Given the description of an element on the screen output the (x, y) to click on. 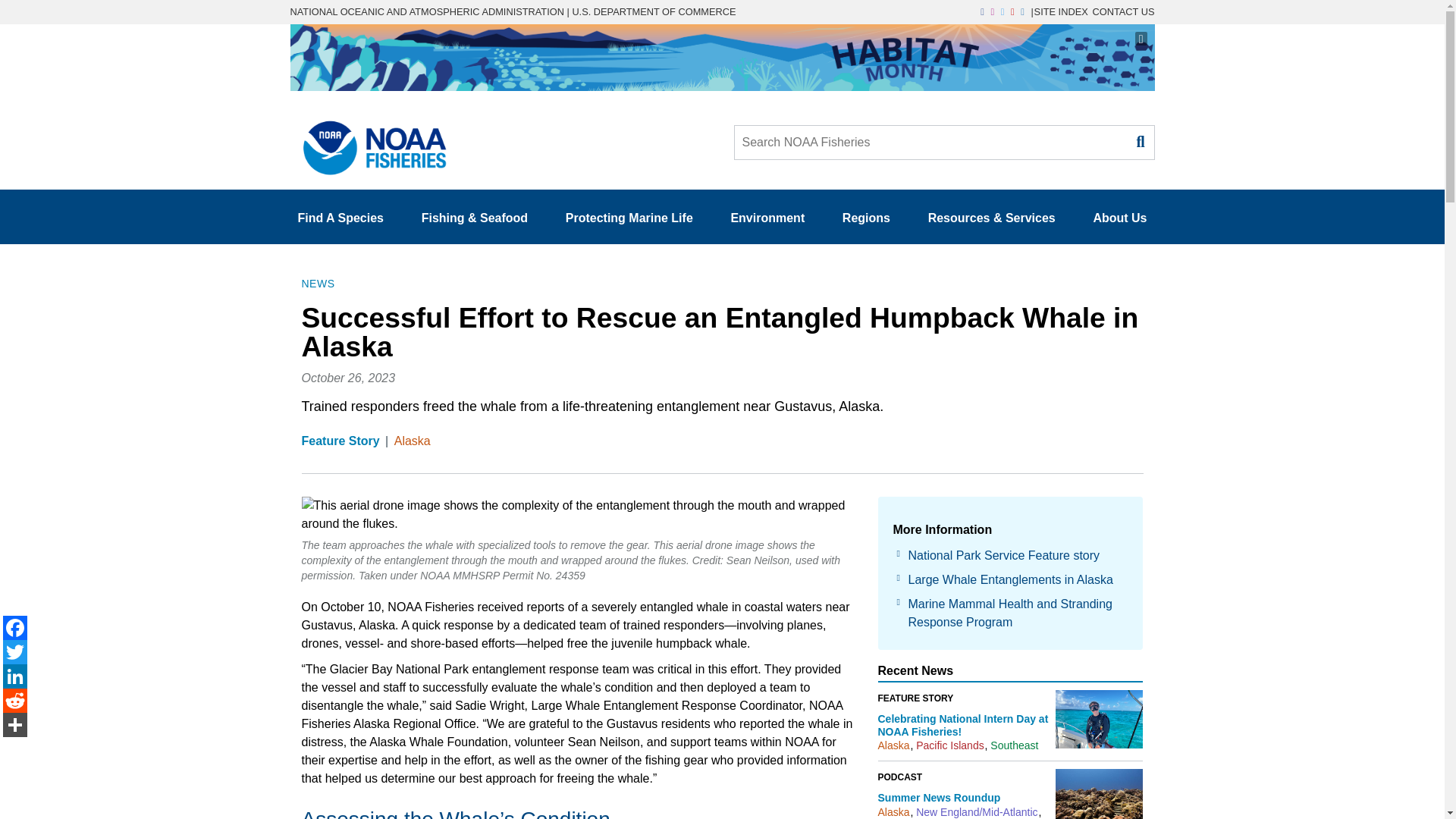
CONTACT US (1123, 11)
Find A Species (340, 218)
Home (368, 143)
Search (1139, 141)
U.S. DEPARTMENT OF COMMERCE (653, 11)
NATIONAL OCEANIC AND ATMOSPHERIC ADMINISTRATION (426, 11)
SITE INDEX (1060, 11)
